Given the description of an element on the screen output the (x, y) to click on. 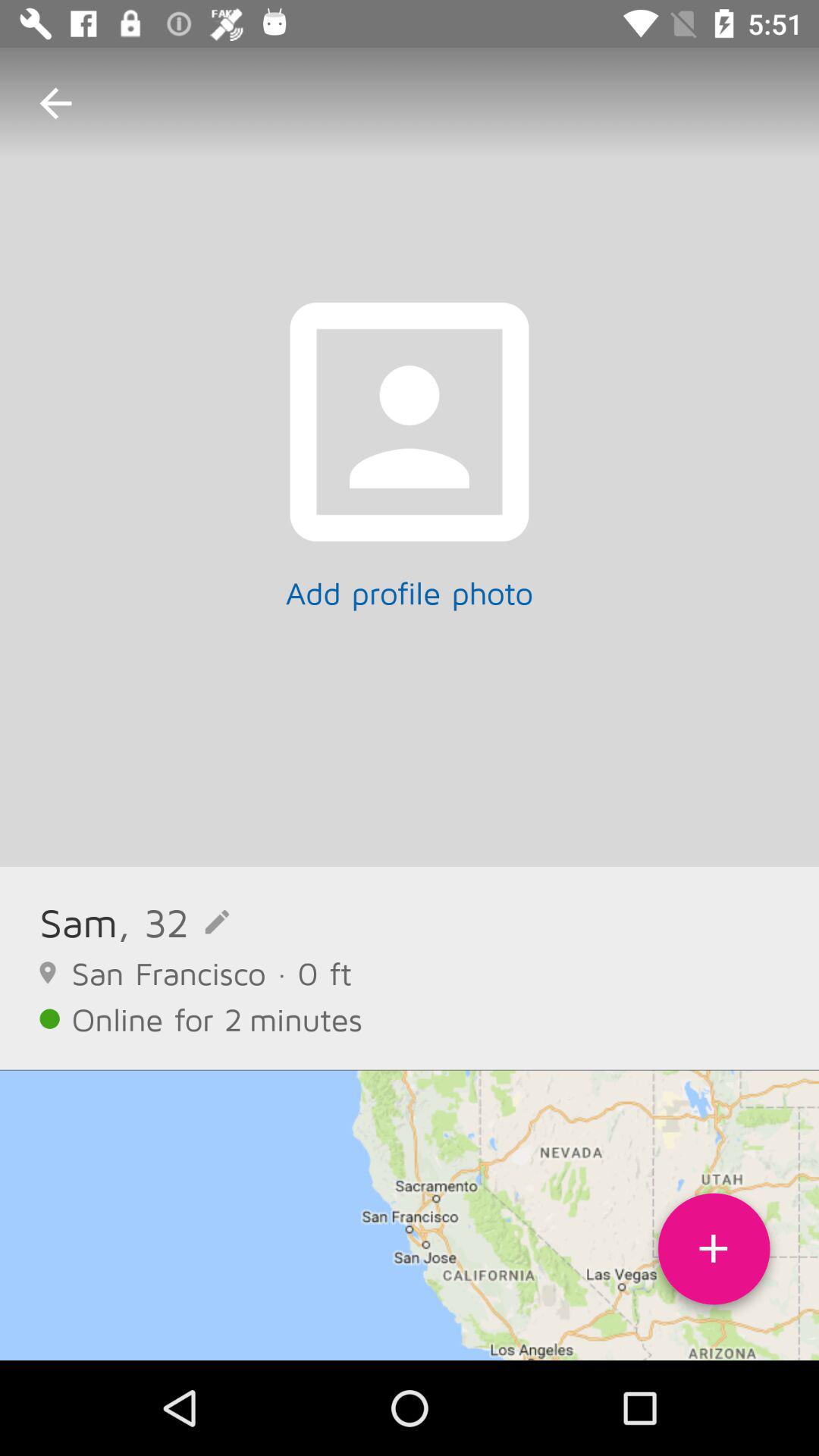
add a new search (713, 1254)
